Given the description of an element on the screen output the (x, y) to click on. 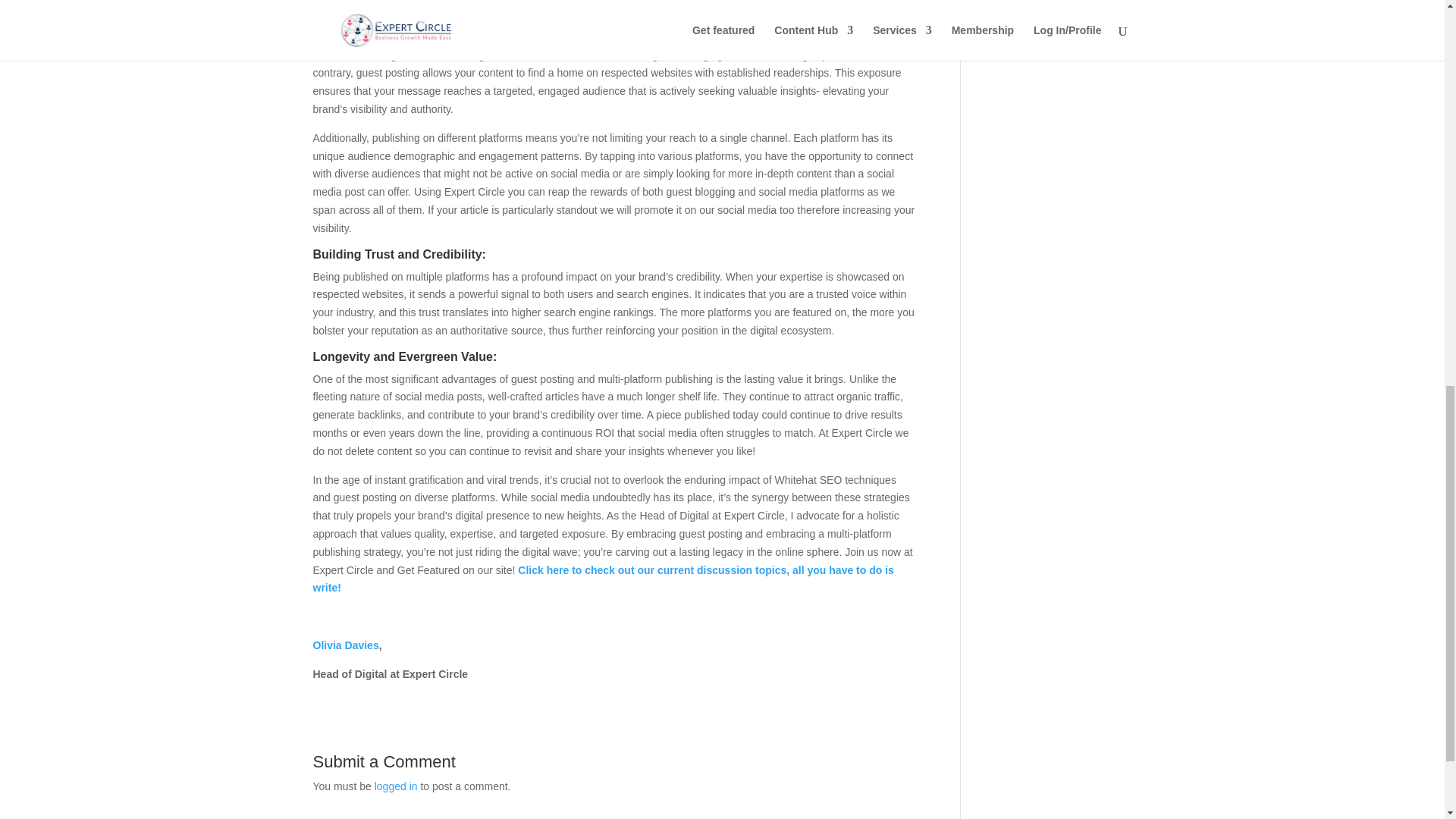
logged in (395, 786)
Olivia Davies (345, 645)
